Given the description of an element on the screen output the (x, y) to click on. 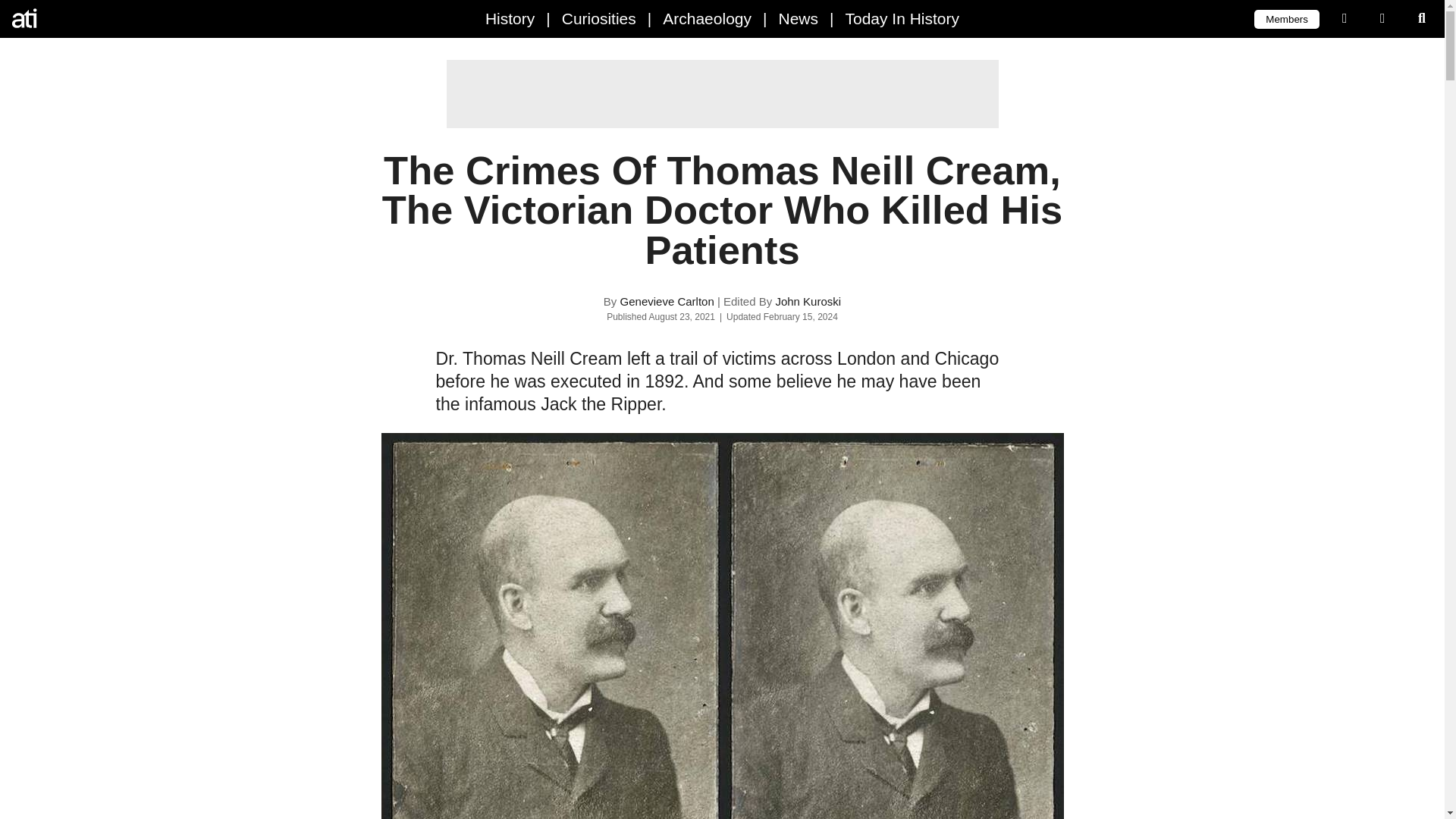
John Kuroski (807, 300)
Curiosities (598, 18)
All That's Interesting (75, 18)
Members (1286, 18)
Today In History (901, 18)
History (510, 18)
Archaeology (706, 18)
News (798, 18)
Genevieve Carlton (667, 300)
